Given the description of an element on the screen output the (x, y) to click on. 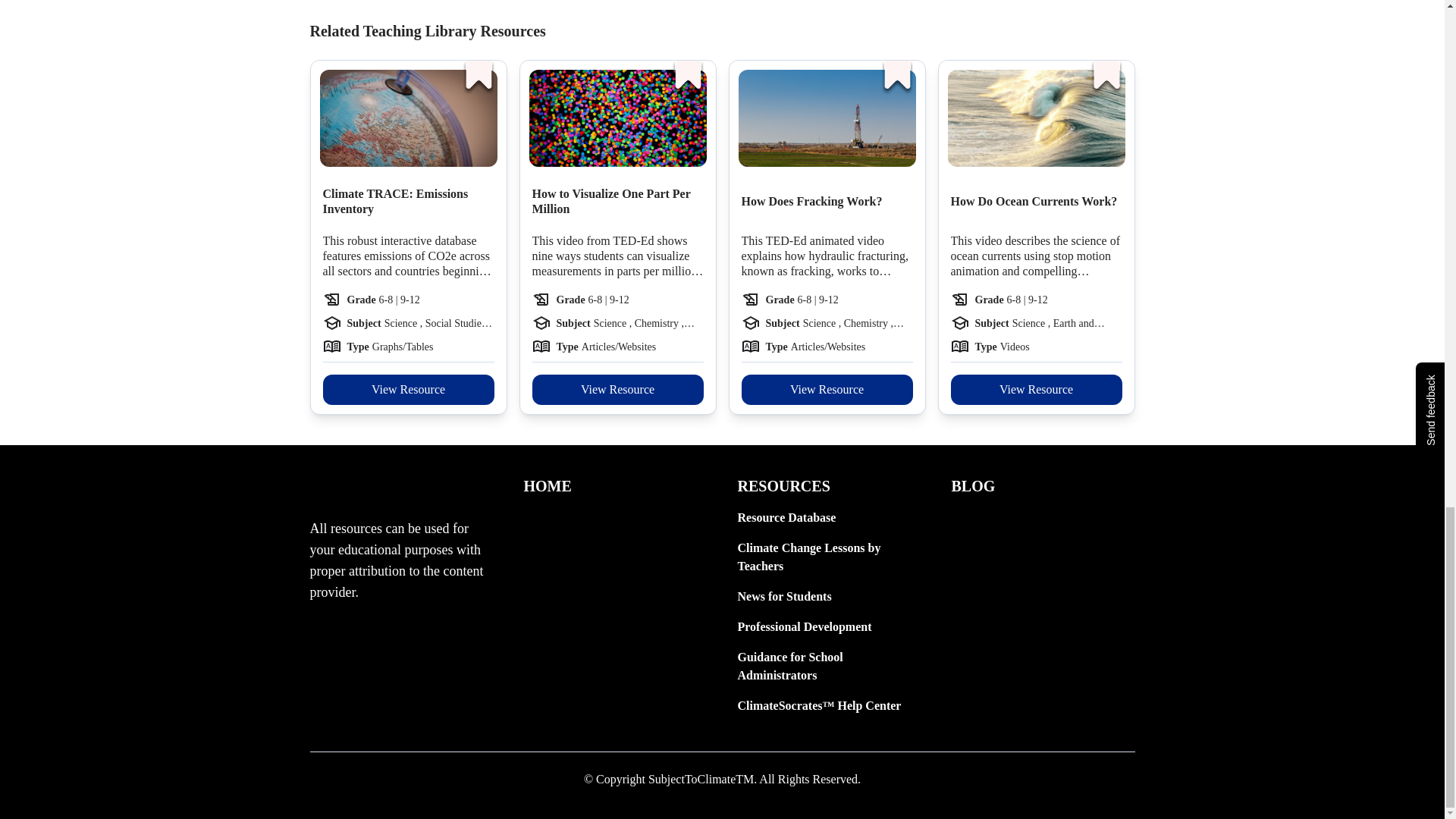
View Resource (826, 389)
HOME (614, 485)
Science , Social Studies , Mathematics (439, 323)
How Do Ocean Currents Work? (1034, 201)
Guidance for School Administrators (828, 666)
News for Students (828, 597)
Climate Change Lessons by Teachers (828, 556)
How to Visualize One Part Per Million (617, 201)
View Resource (1036, 389)
Science , Earth and Space Sciences (1066, 323)
RESOURCES (828, 485)
Professional Development (828, 627)
Science , Chemistry , Earth and Space Sciences , Health (857, 323)
How Does Fracking Work? (811, 201)
